Given the description of an element on the screen output the (x, y) to click on. 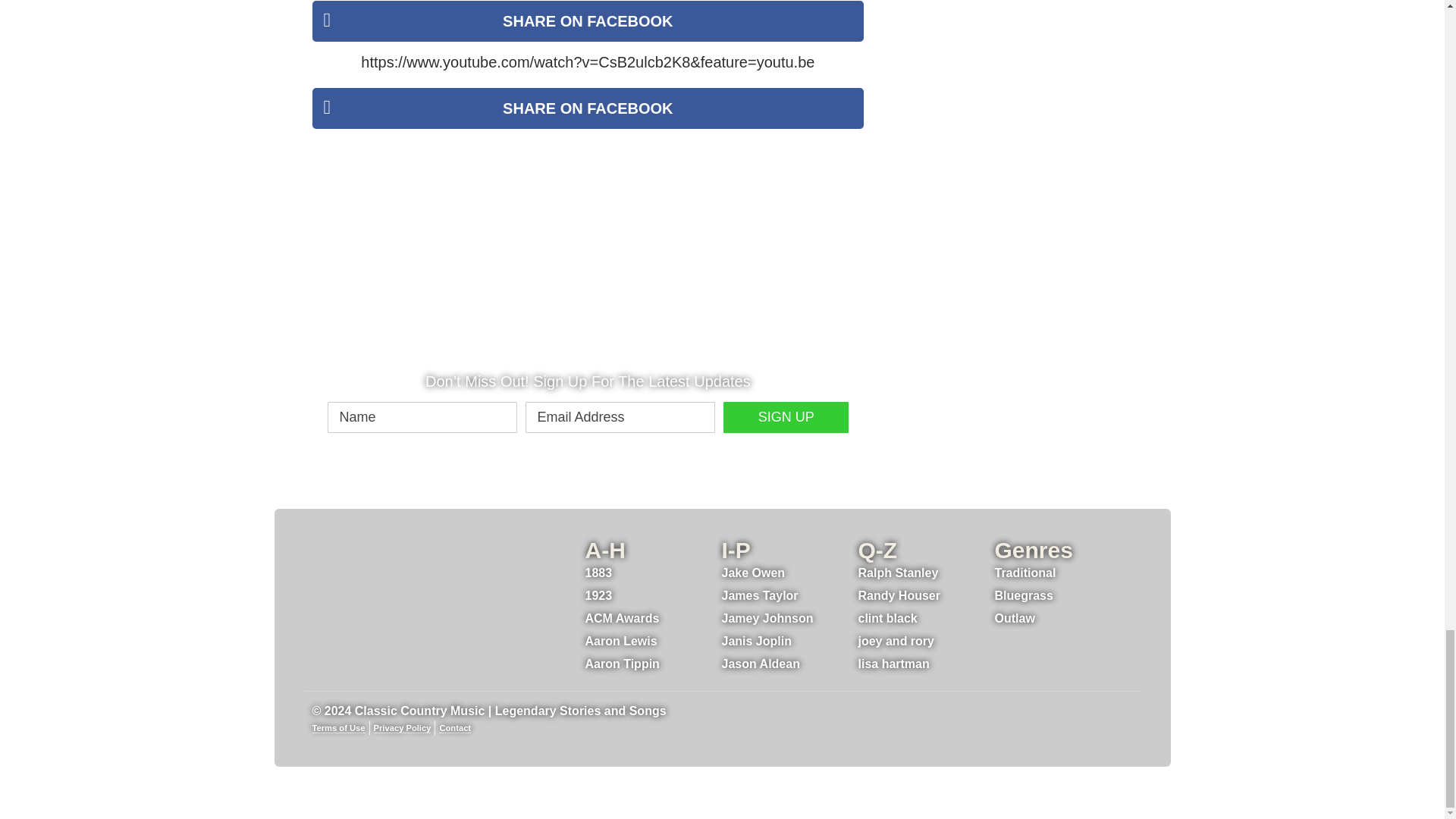
Sign Up (785, 417)
